Given the description of an element on the screen output the (x, y) to click on. 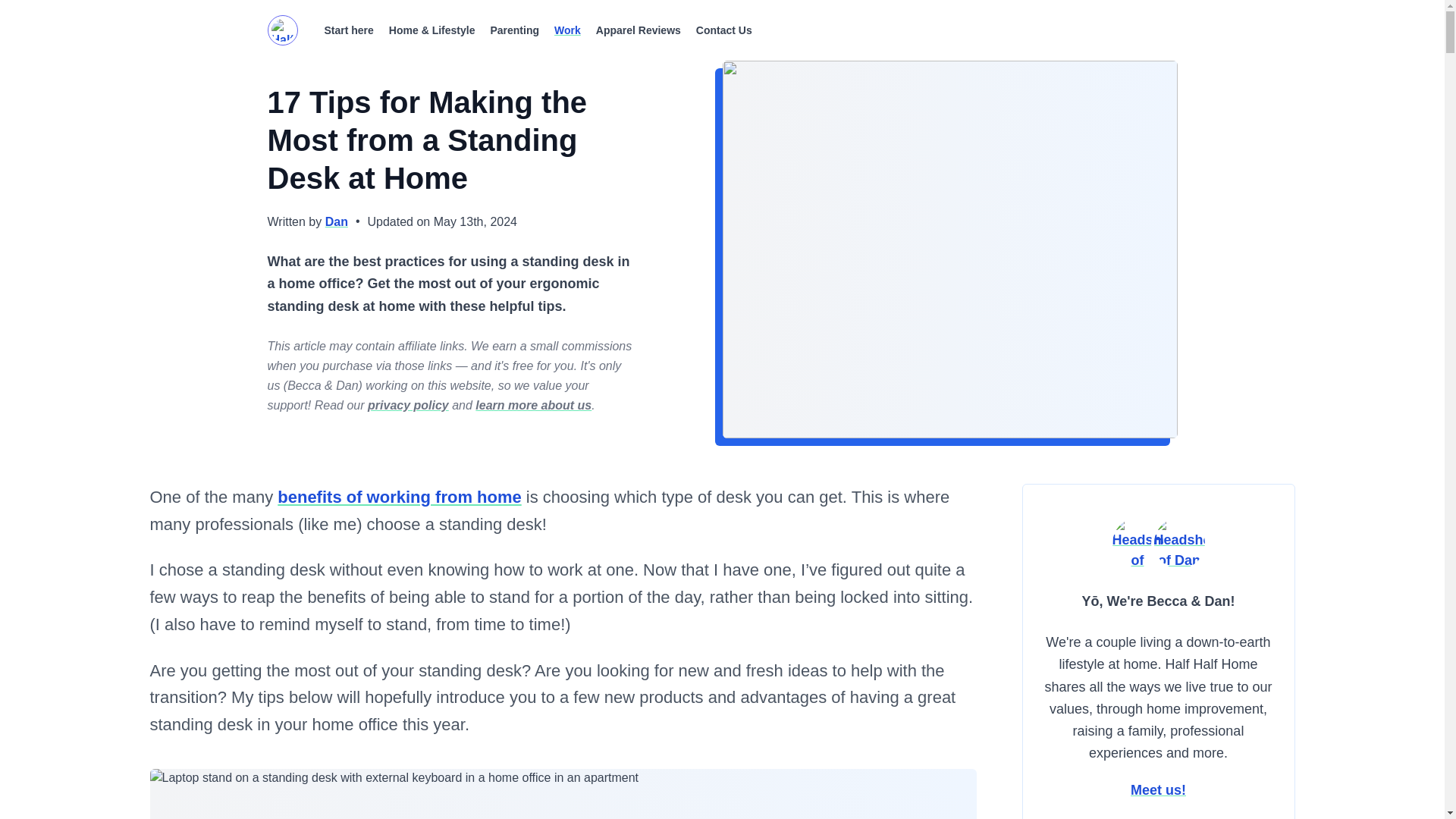
privacy policy (408, 404)
Parenting (513, 30)
learn more about us (533, 404)
Contact Us (723, 30)
Start here (346, 30)
This means hello! (1090, 601)
Apparel Reviews (638, 30)
Dan (335, 221)
Work (567, 30)
benefits of working from home (399, 496)
